Given the description of an element on the screen output the (x, y) to click on. 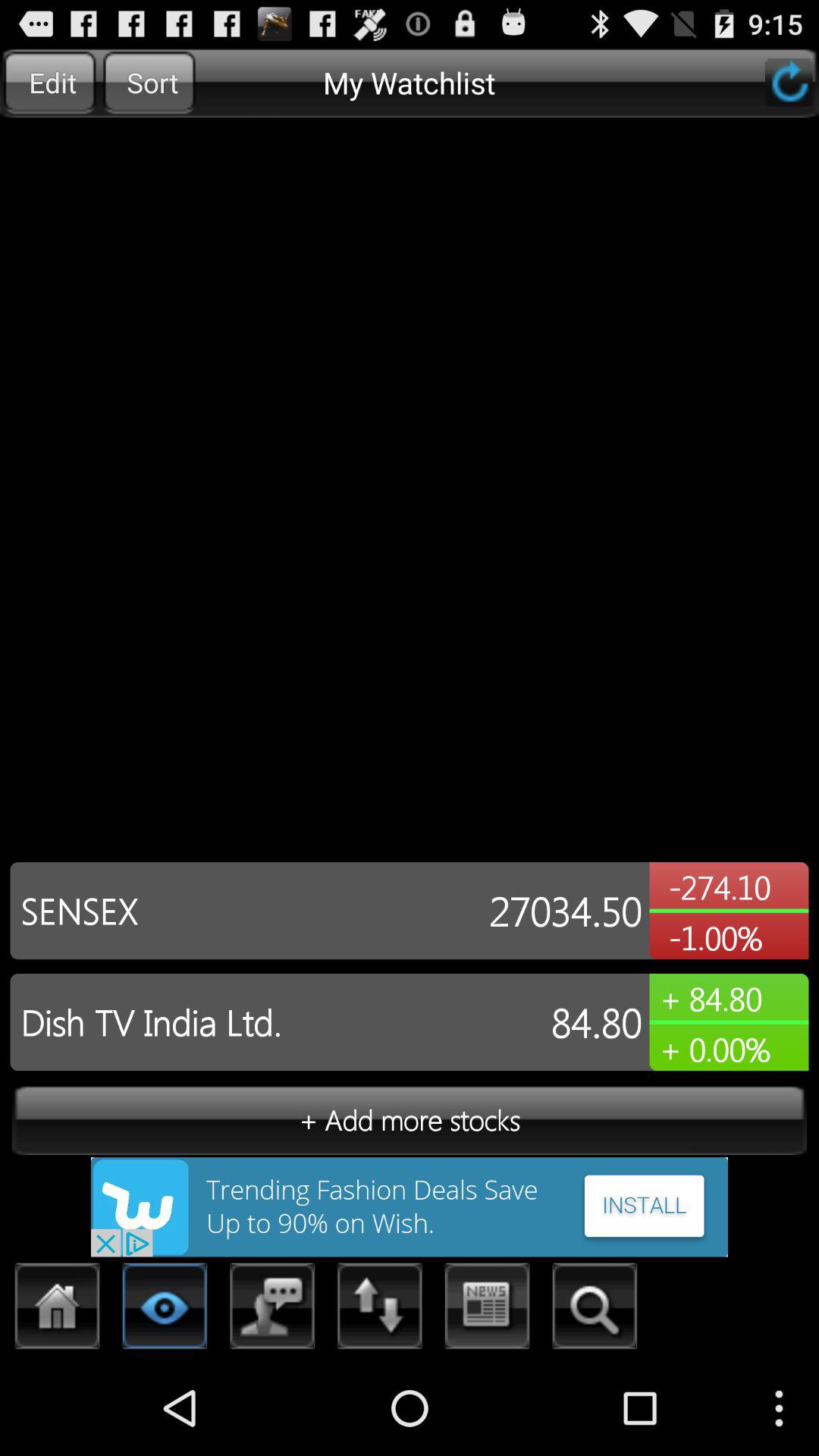
install an app (409, 1206)
